Given the description of an element on the screen output the (x, y) to click on. 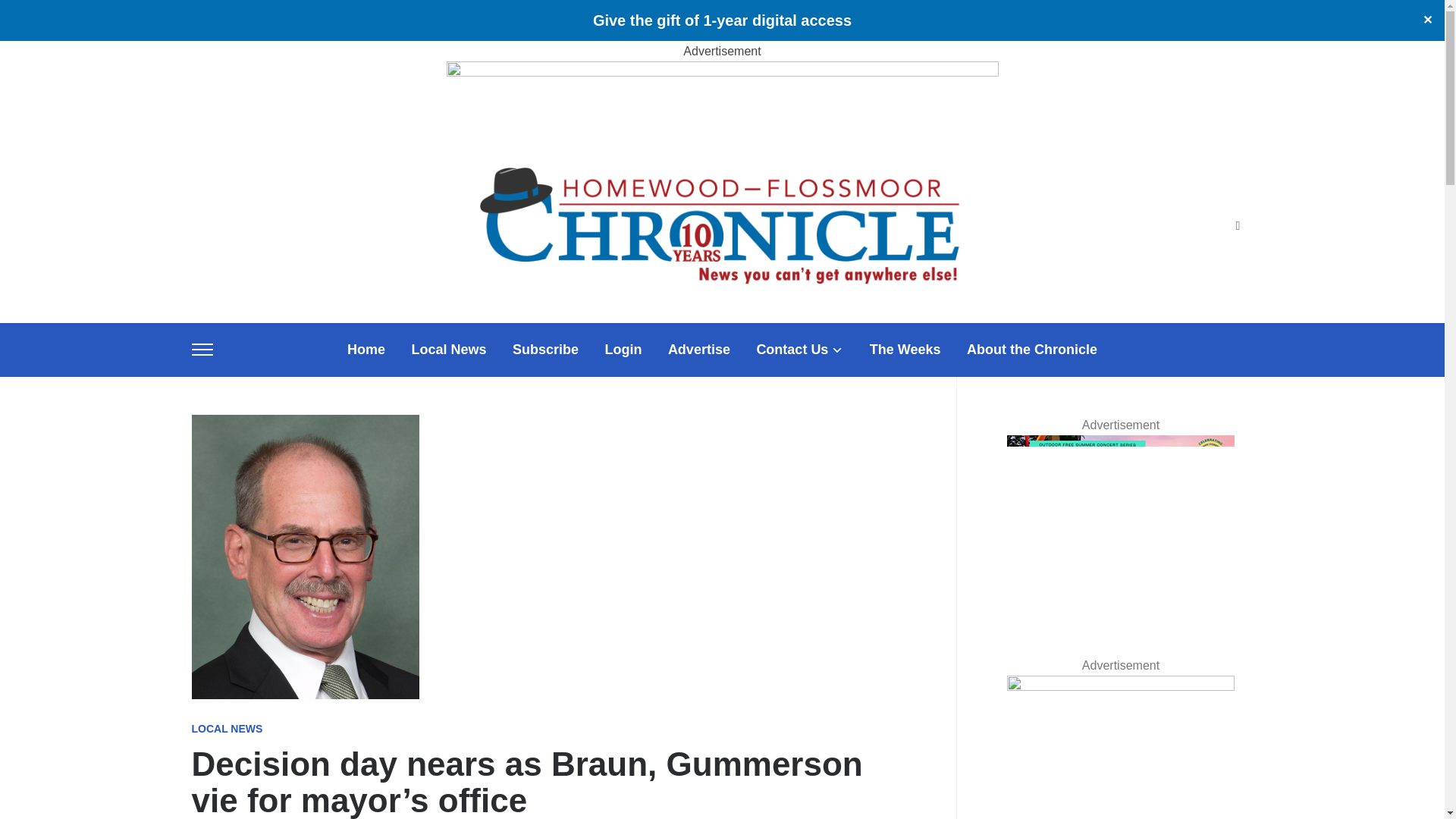
Home (366, 349)
Search (1237, 226)
Give the gift of 1-year digital access (721, 20)
